Given the description of an element on the screen output the (x, y) to click on. 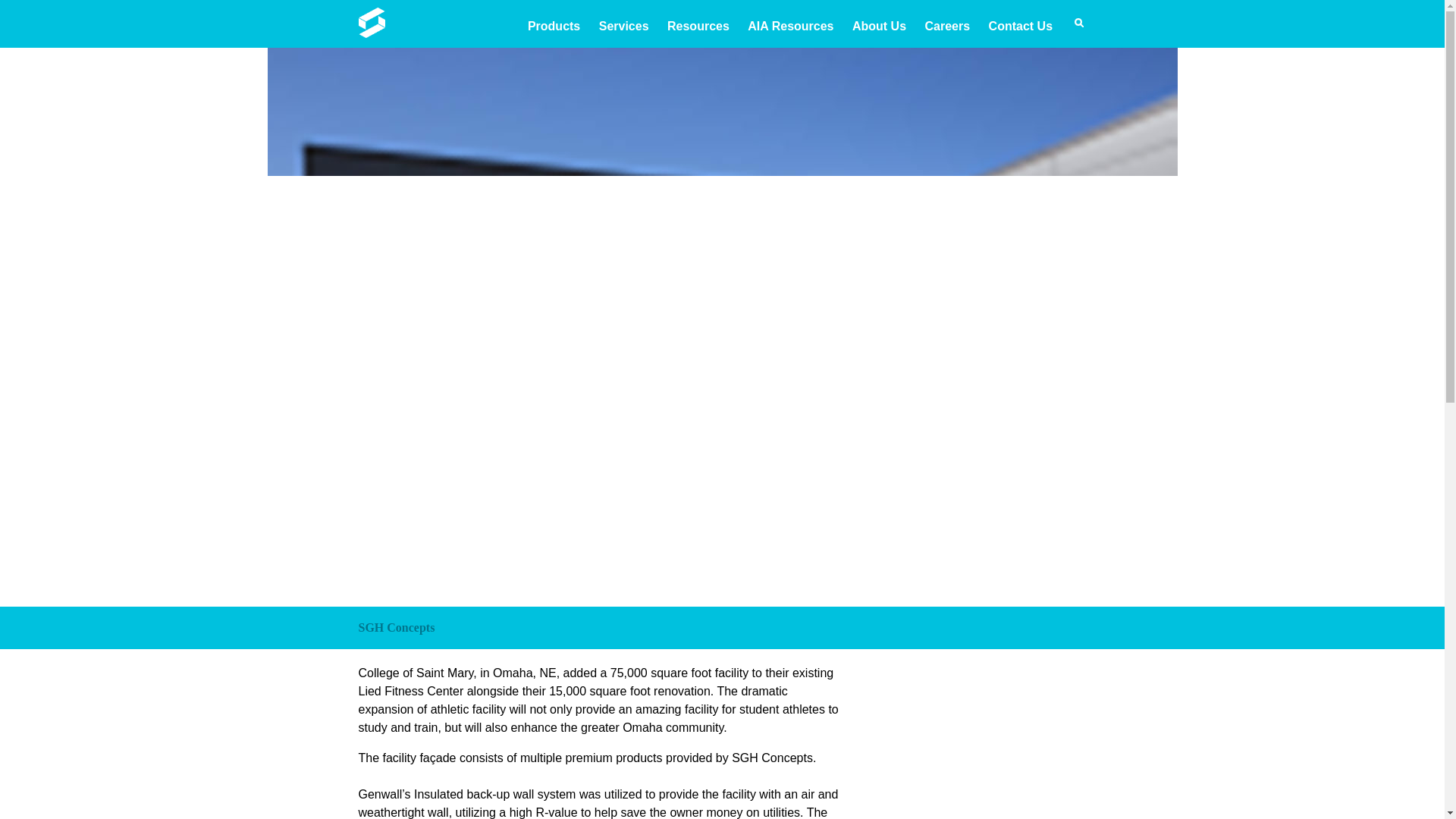
Products (553, 26)
SGH Home (371, 33)
Services (623, 26)
